Given the description of an element on the screen output the (x, y) to click on. 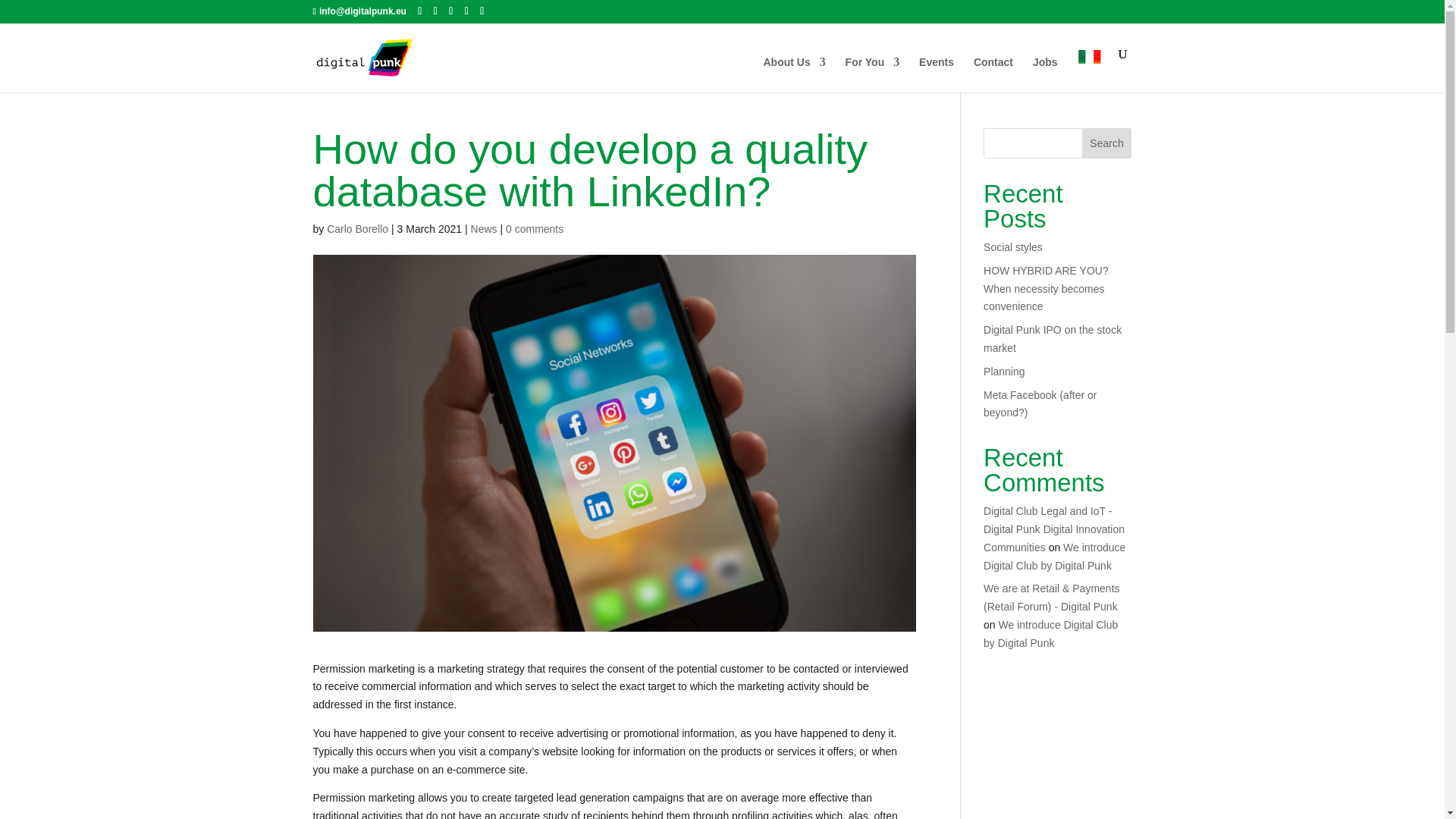
Jobs (1045, 74)
For You (872, 74)
Events (935, 74)
News (483, 228)
Search (1106, 142)
Carlo Borello (357, 228)
0 comments (534, 228)
Posts by Carlo Borello (357, 228)
Search (1106, 142)
HOW HYBRID ARE YOU? When necessity becomes convenience (1046, 288)
Digital Punk IPO on the stock market (1052, 338)
Contact (993, 74)
About Us (793, 74)
Social styles (1013, 246)
